Given the description of an element on the screen output the (x, y) to click on. 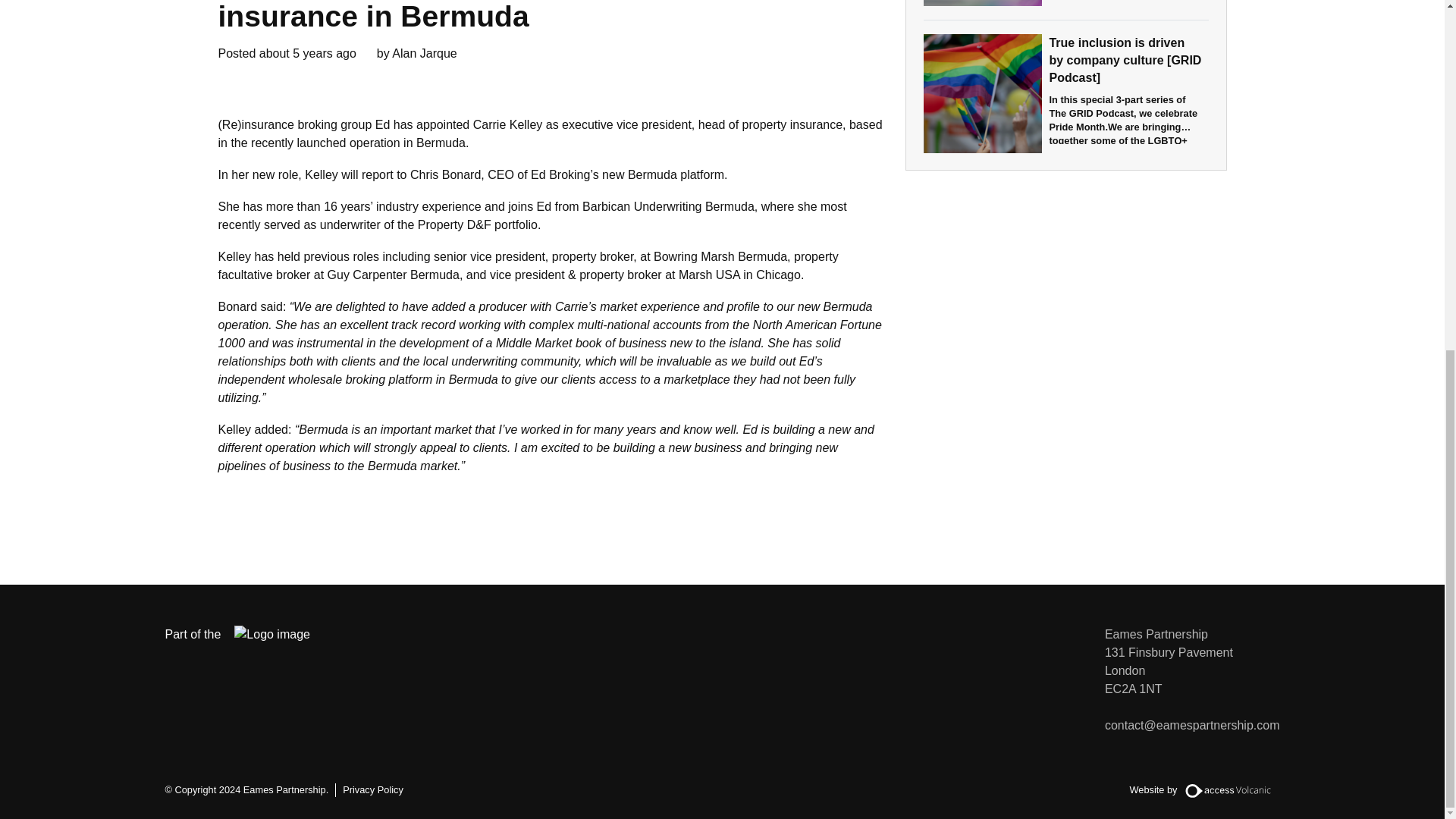
Privacy Policy (372, 789)
Website by (1204, 790)
Part of the (249, 634)
